Given the description of an element on the screen output the (x, y) to click on. 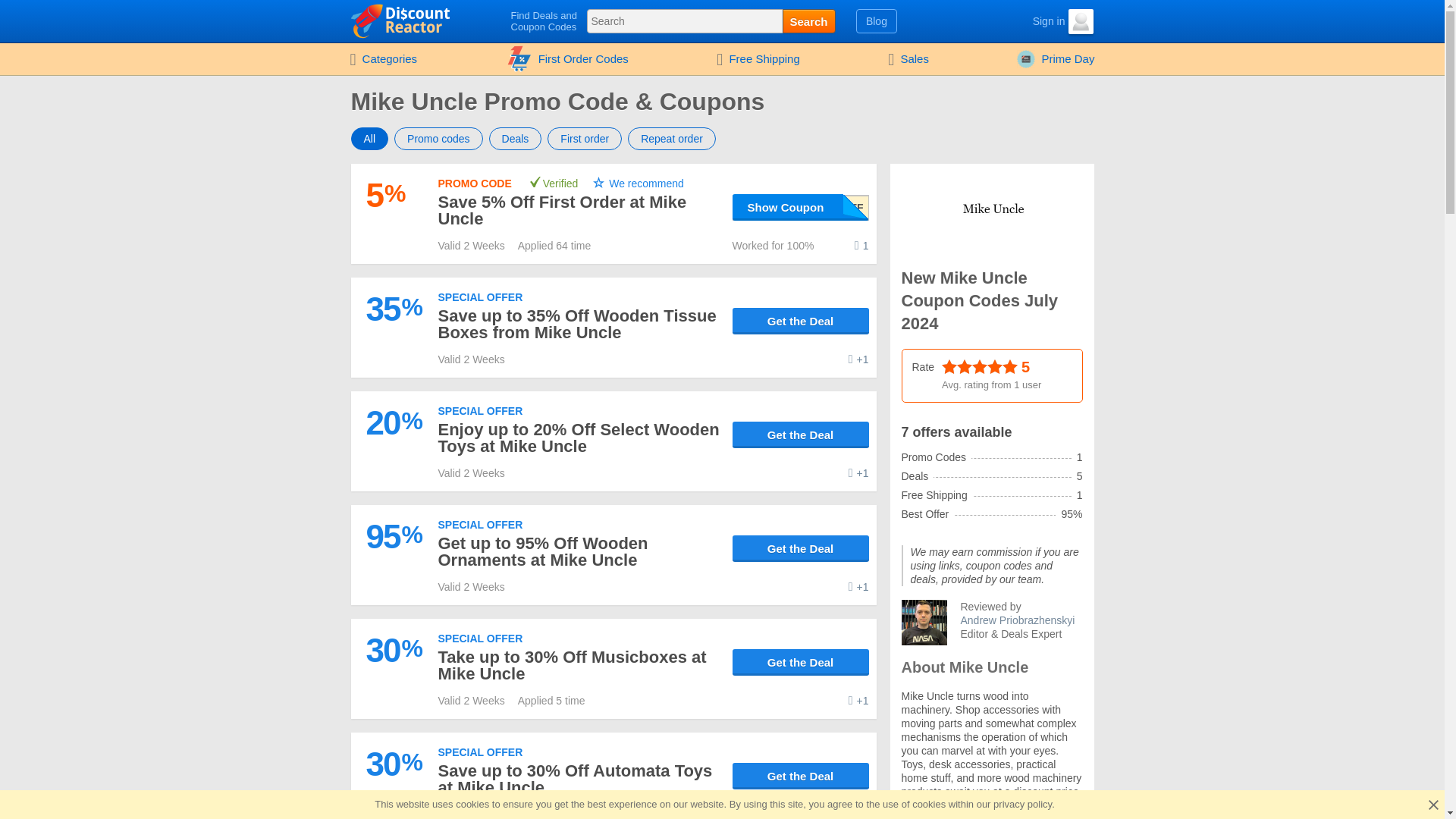
Leave your comment  (858, 813)
Leave your comment  (858, 472)
Sign in (1036, 21)
Get the Deal (800, 775)
Get the Deal (800, 434)
Get the Deal (800, 320)
Show Coupon (800, 207)
Free Shipping (757, 59)
Prime Day (1055, 59)
Get the Deal (800, 434)
1 (861, 245)
Categories (382, 59)
Show Coupon (800, 207)
Leave your comment  (861, 245)
Blog (876, 20)
